Given the description of an element on the screen output the (x, y) to click on. 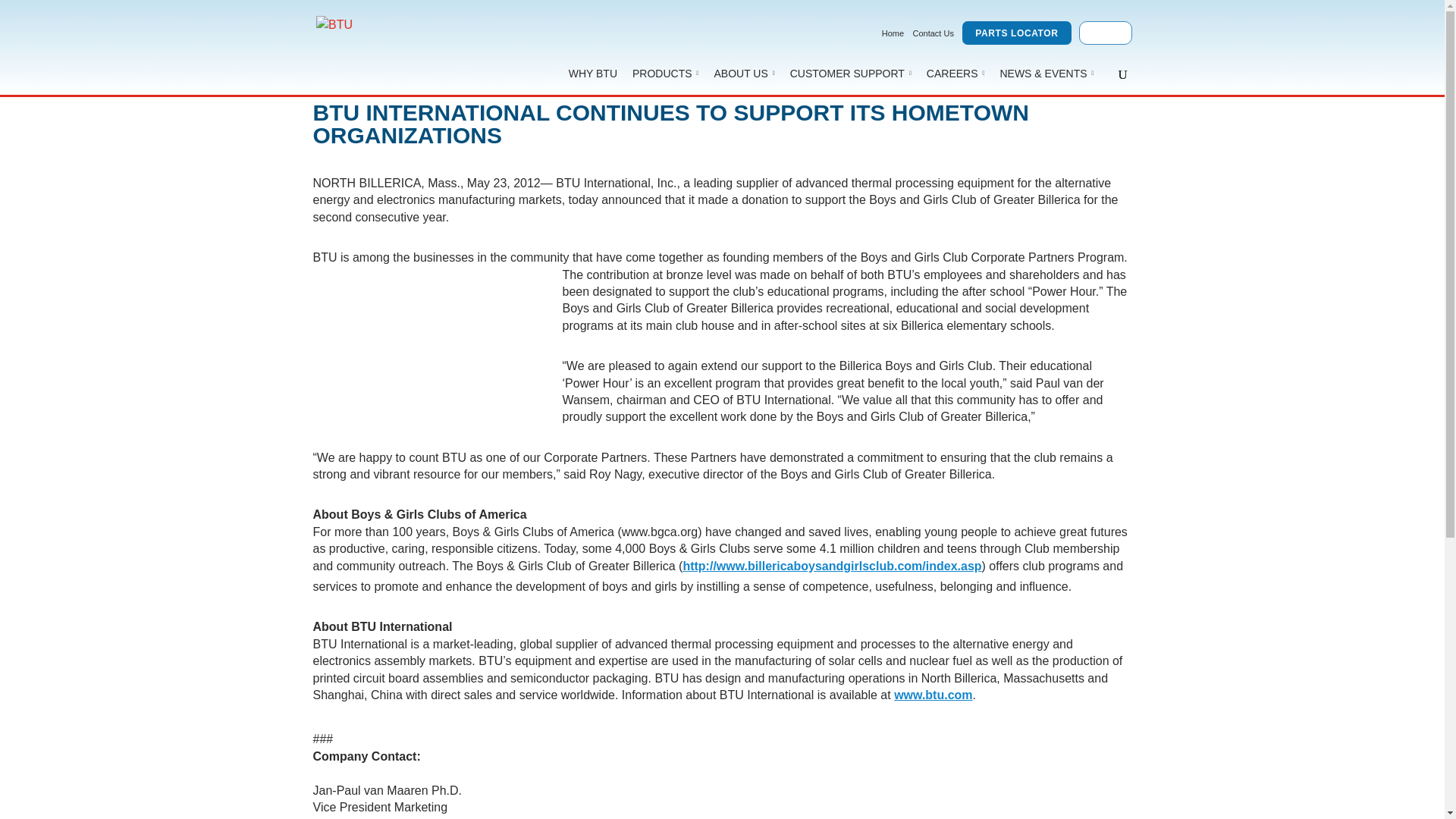
ABOUT US (744, 73)
PARTS LOCATOR (1016, 33)
Contact Us (932, 32)
PRODUCTS (665, 73)
Home (893, 32)
WHY BTU (592, 73)
